Given the description of an element on the screen output the (x, y) to click on. 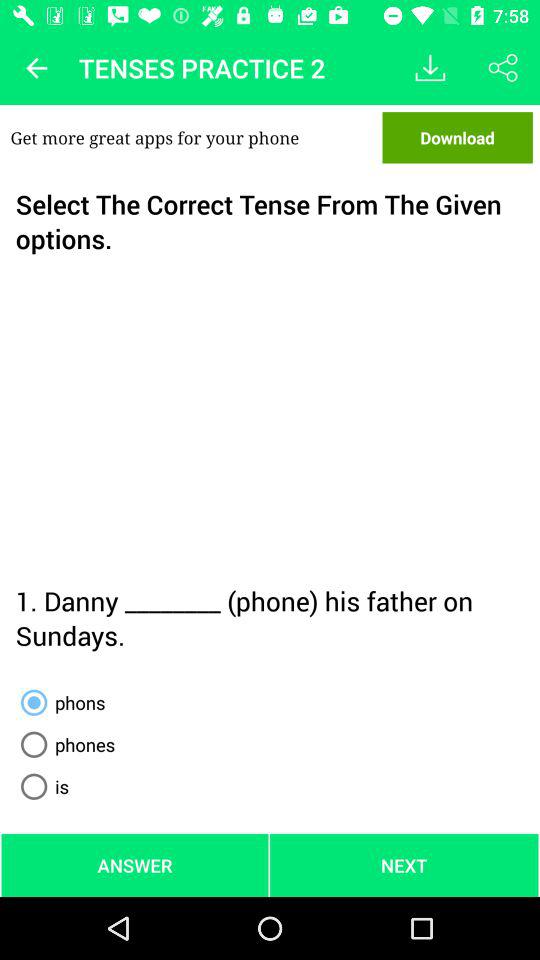
select the item below the 1 danny ________ icon (59, 702)
